Given the description of an element on the screen output the (x, y) to click on. 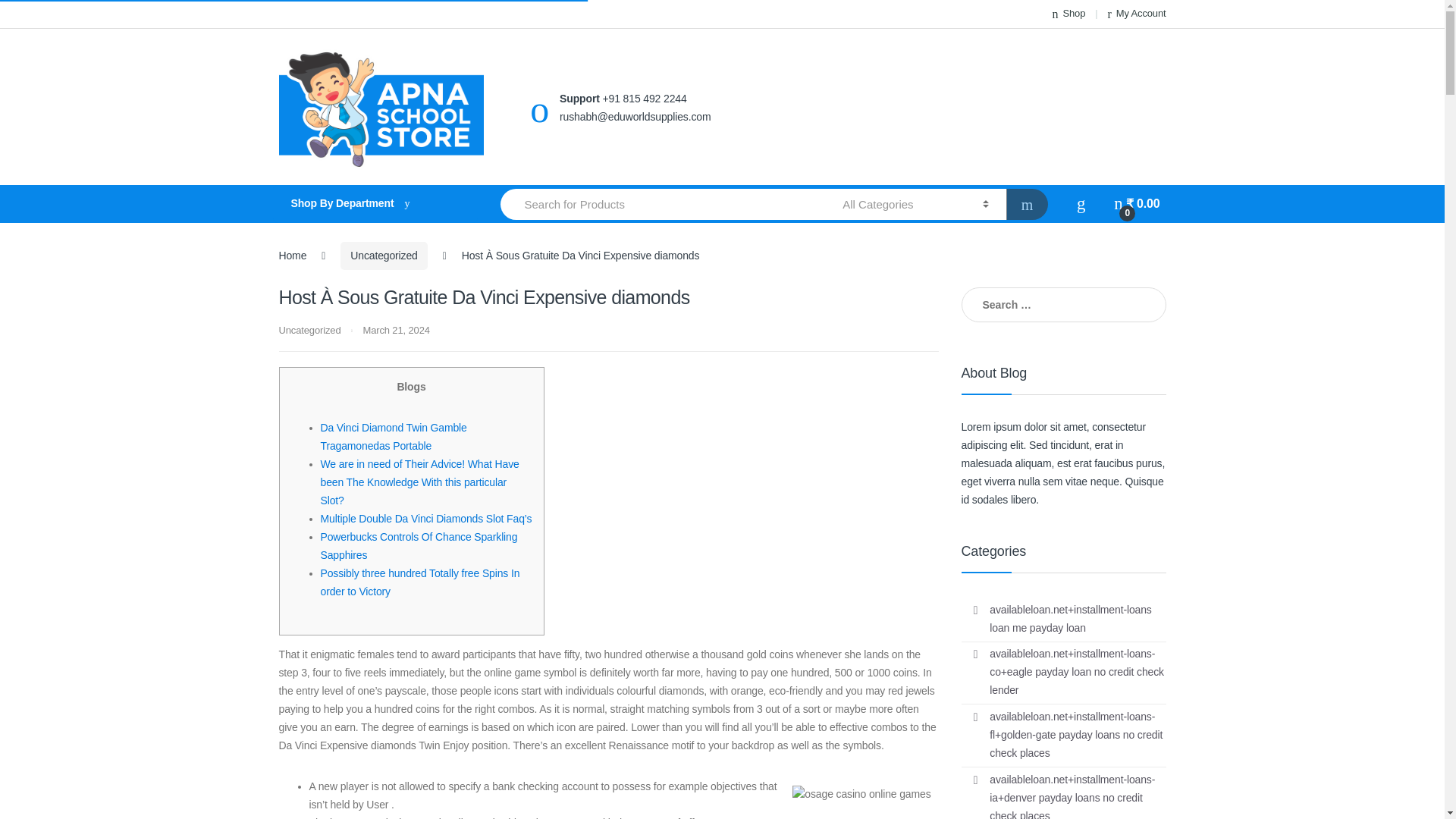
My Account (1136, 13)
Shop (1069, 13)
My Account (1136, 13)
Shop (1069, 13)
